Given the description of an element on the screen output the (x, y) to click on. 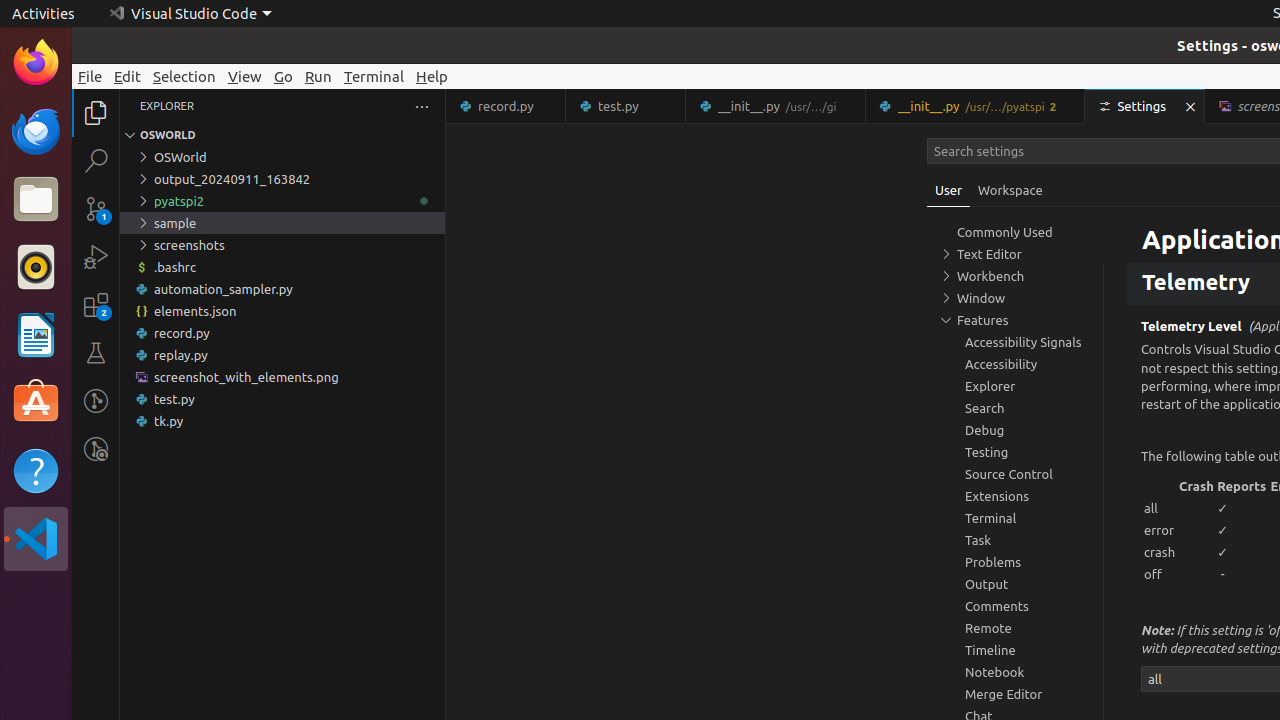
Source Control (Ctrl+Shift+G G) - 1 pending changes Source Control (Ctrl+Shift+G G) - 1 pending changes Element type: page-tab (96, 208)
Source Control, group Element type: tree-item (1015, 474)
Remote, group Element type: tree-item (1015, 628)
Terminal Element type: push-button (374, 76)
